Given the description of an element on the screen output the (x, y) to click on. 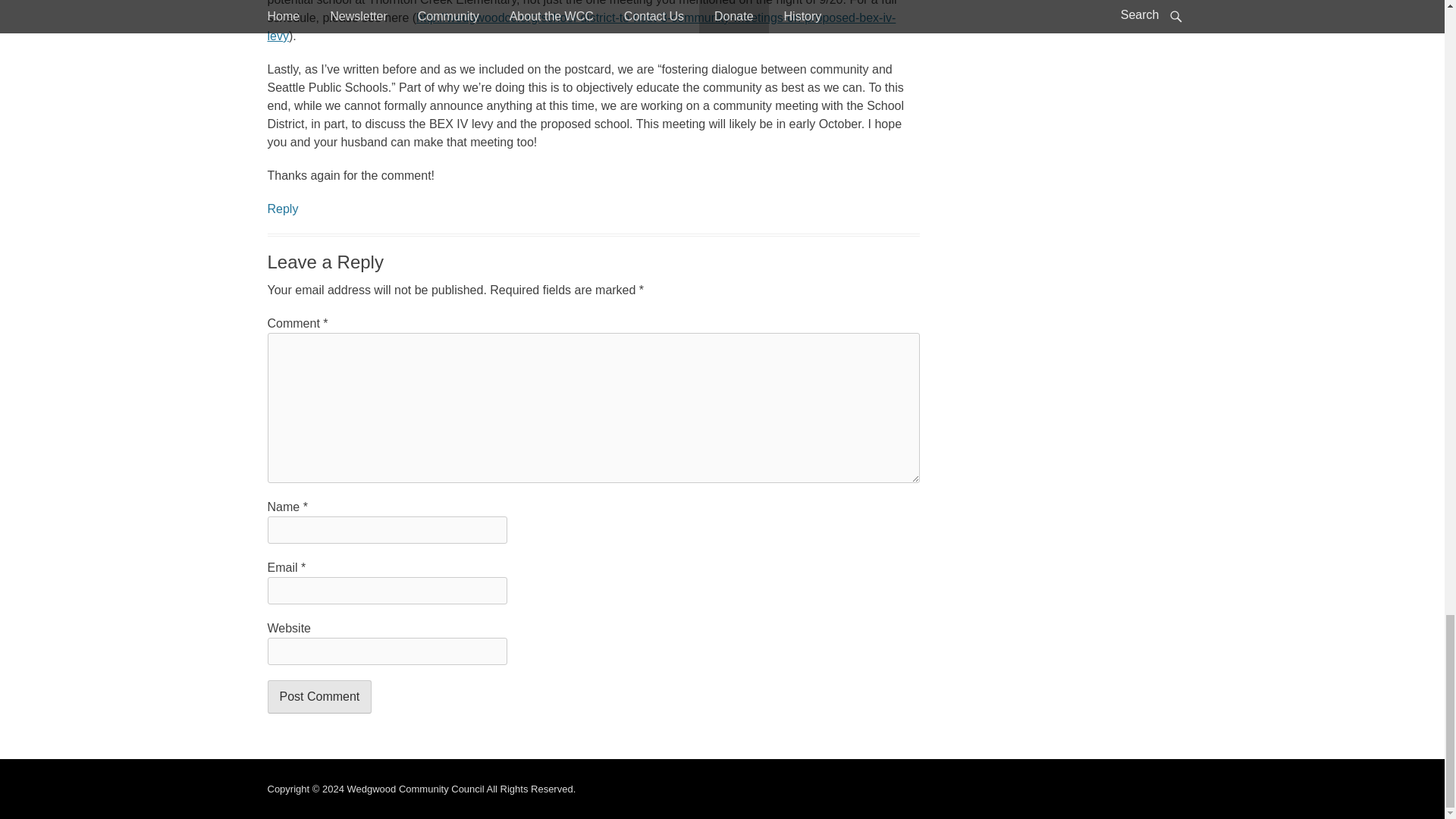
Post Comment (318, 696)
